Given the description of an element on the screen output the (x, y) to click on. 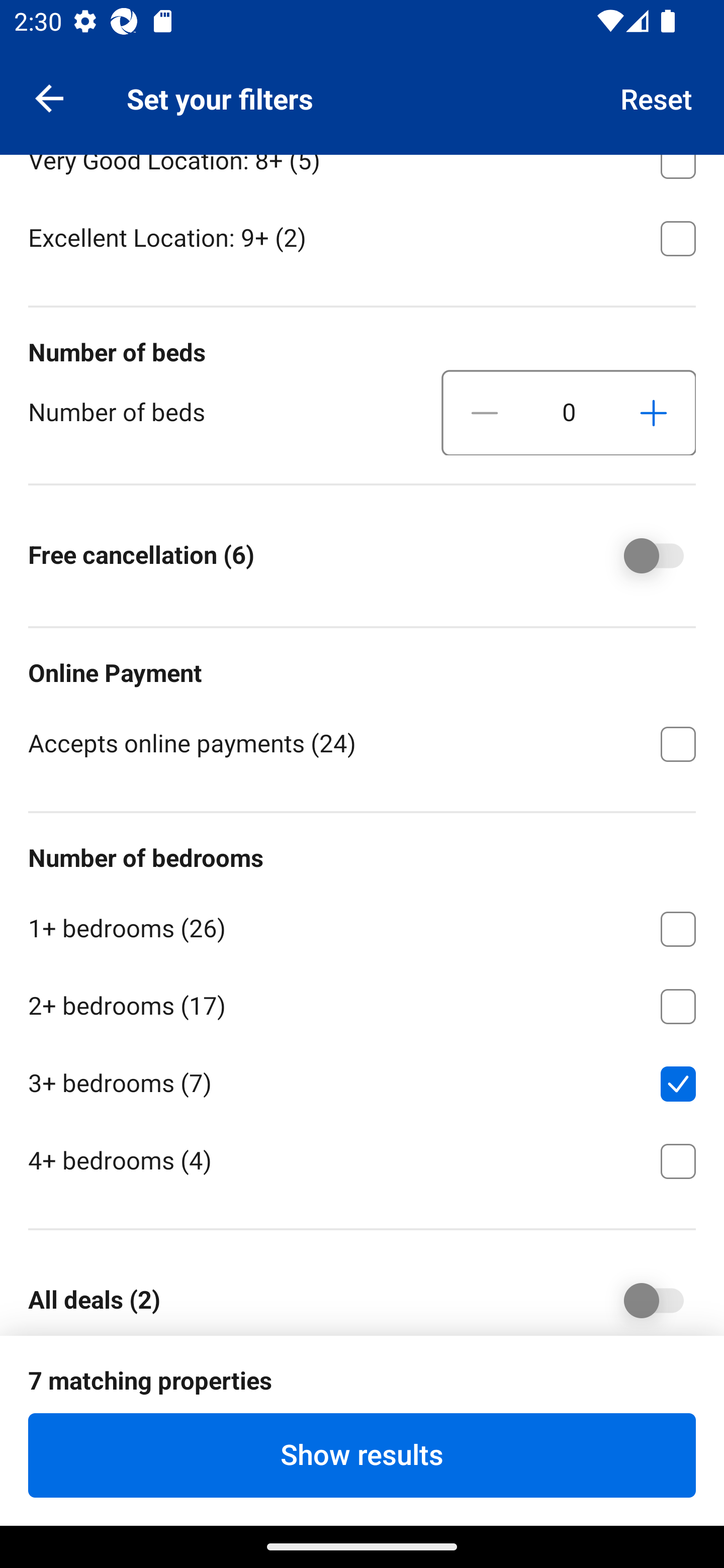
Good Location: 7+ ⁦(6) (361, 80)
Navigate up (49, 97)
Reset (656, 97)
Very Good Location: 8+ ⁦(5) (361, 175)
Excellent Location: 9+ ⁦(2) (361, 236)
Decrease (484, 412)
Increase (653, 412)
Free cancellation ⁦(6) (639, 555)
Accepts online payments ⁦(24) (361, 742)
1+ bedrooms ⁦(26) (361, 925)
2+ bedrooms ⁦(17) (361, 1002)
3+ bedrooms ⁦(7) (361, 1080)
4+ bedrooms ⁦(4) (361, 1159)
All deals ⁦(2) (639, 1297)
Show results (361, 1454)
